Given the description of an element on the screen output the (x, y) to click on. 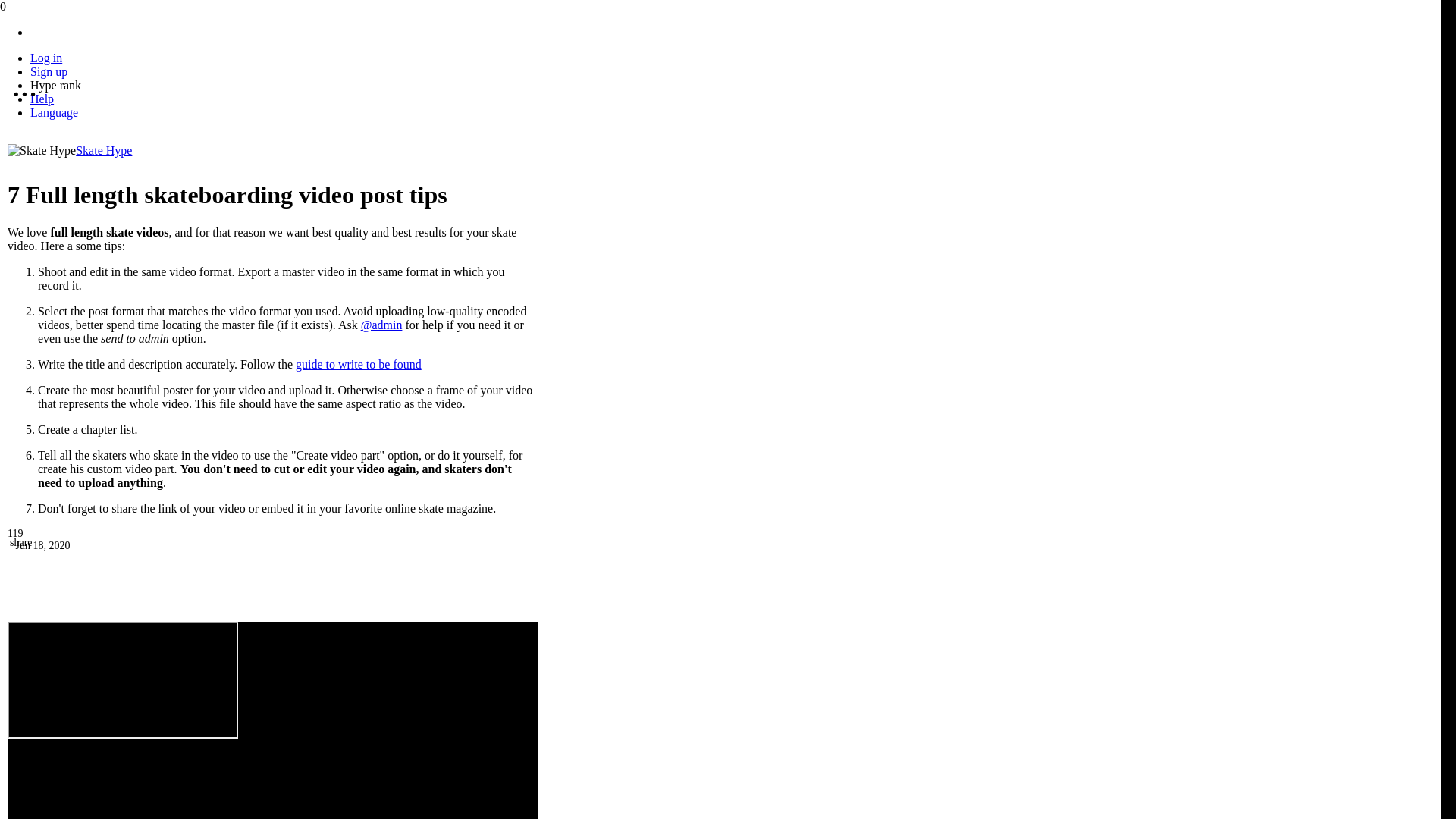
Log in (46, 57)
7 Full length skateboarding video post tips (122, 679)
Skate Hype (103, 150)
Hype rank (55, 84)
Help (41, 98)
Sign up (48, 71)
guide to write to be found (358, 364)
share (21, 542)
